Given the description of an element on the screen output the (x, y) to click on. 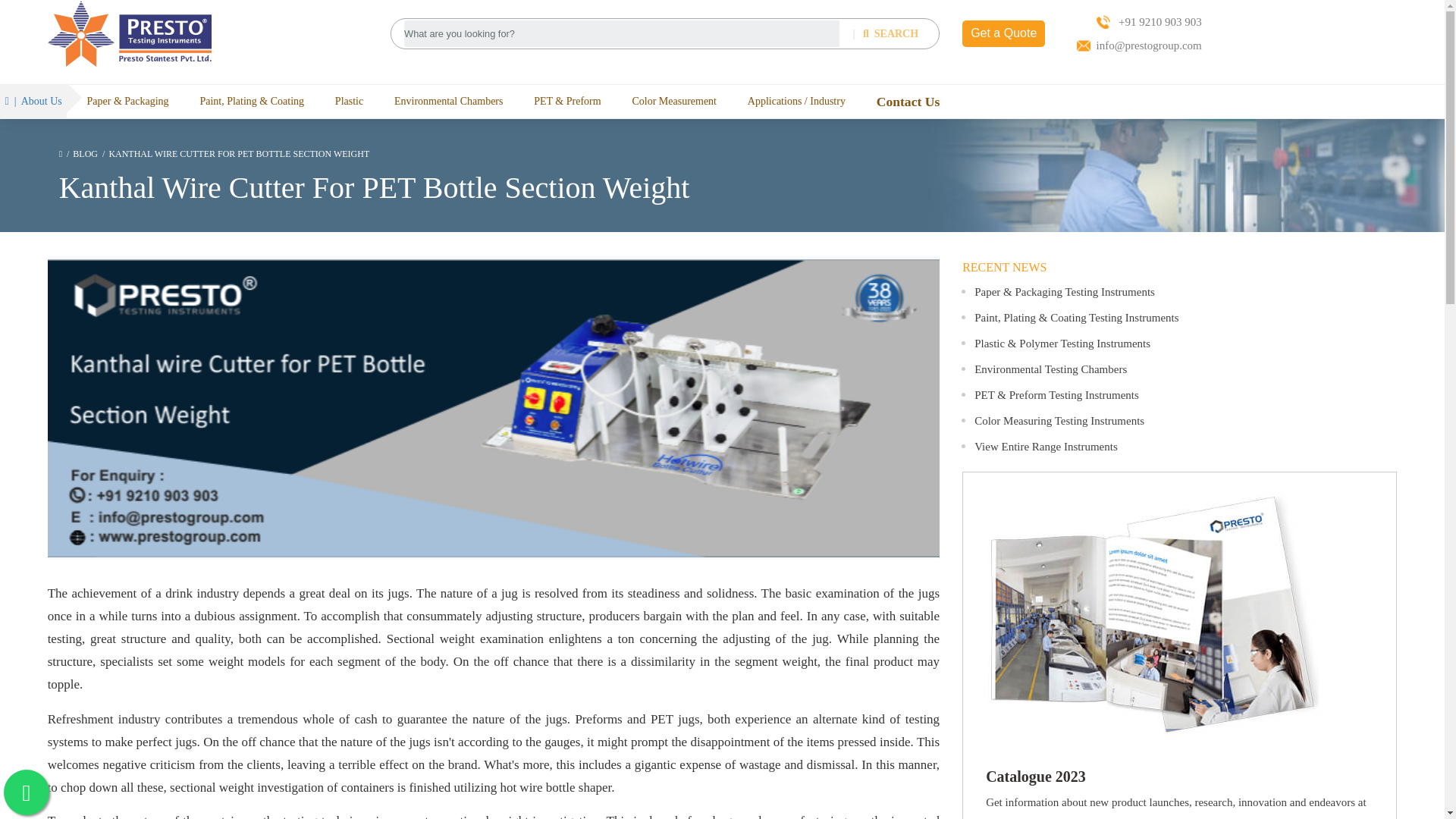
Get a Quote (1003, 33)
Plastic (349, 100)
Color Measurement (674, 100)
Environmental Chambers (448, 100)
Contact Us (908, 101)
